Given the description of an element on the screen output the (x, y) to click on. 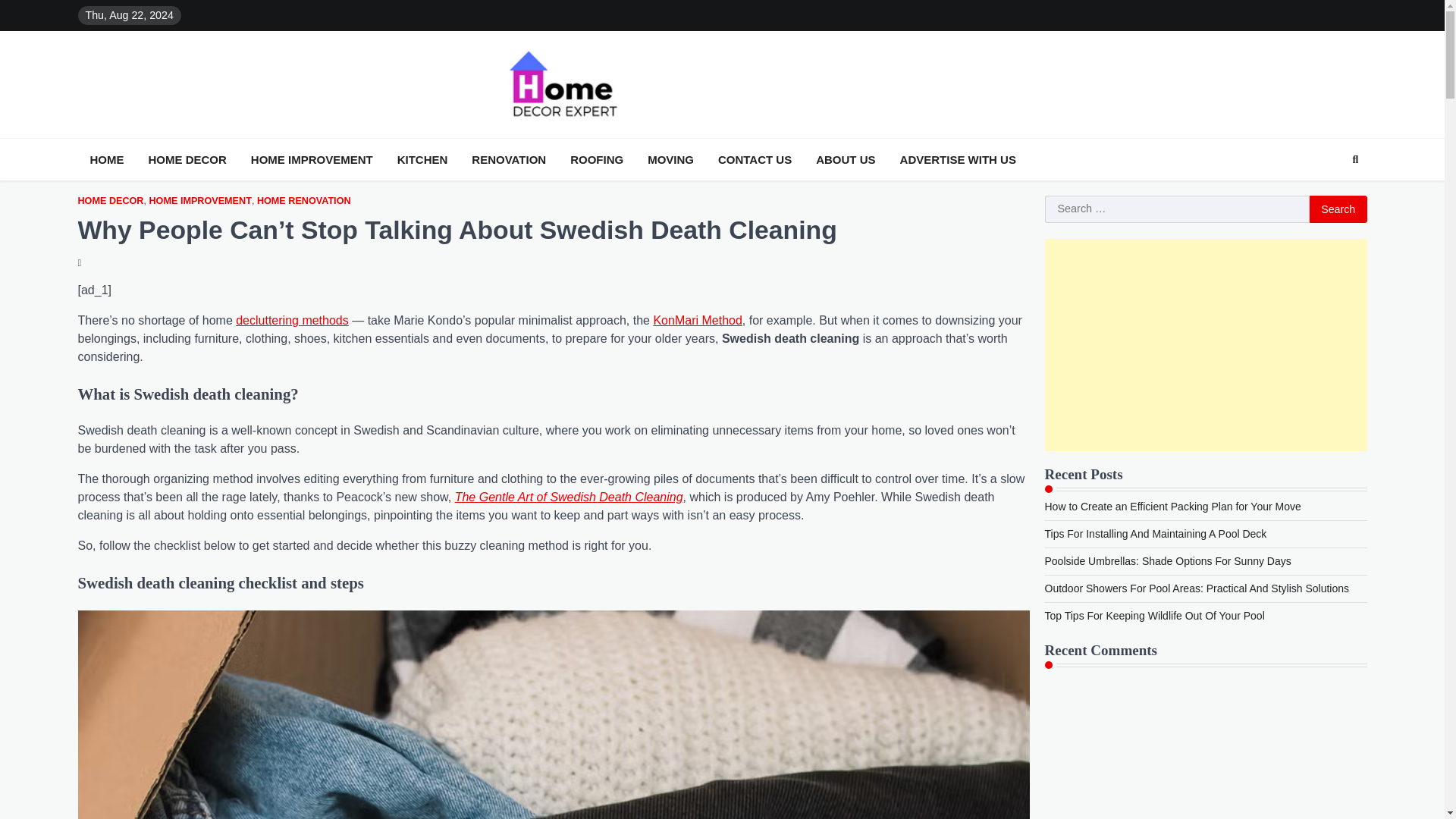
HOME RENOVATION (303, 201)
Search (1355, 159)
Advertisement (1206, 345)
MOVING (671, 159)
ABOUT US (844, 159)
HOME DECOR (109, 201)
RENOVATION (508, 159)
HOME DECOR (187, 159)
KITCHEN (422, 159)
